Given the description of an element on the screen output the (x, y) to click on. 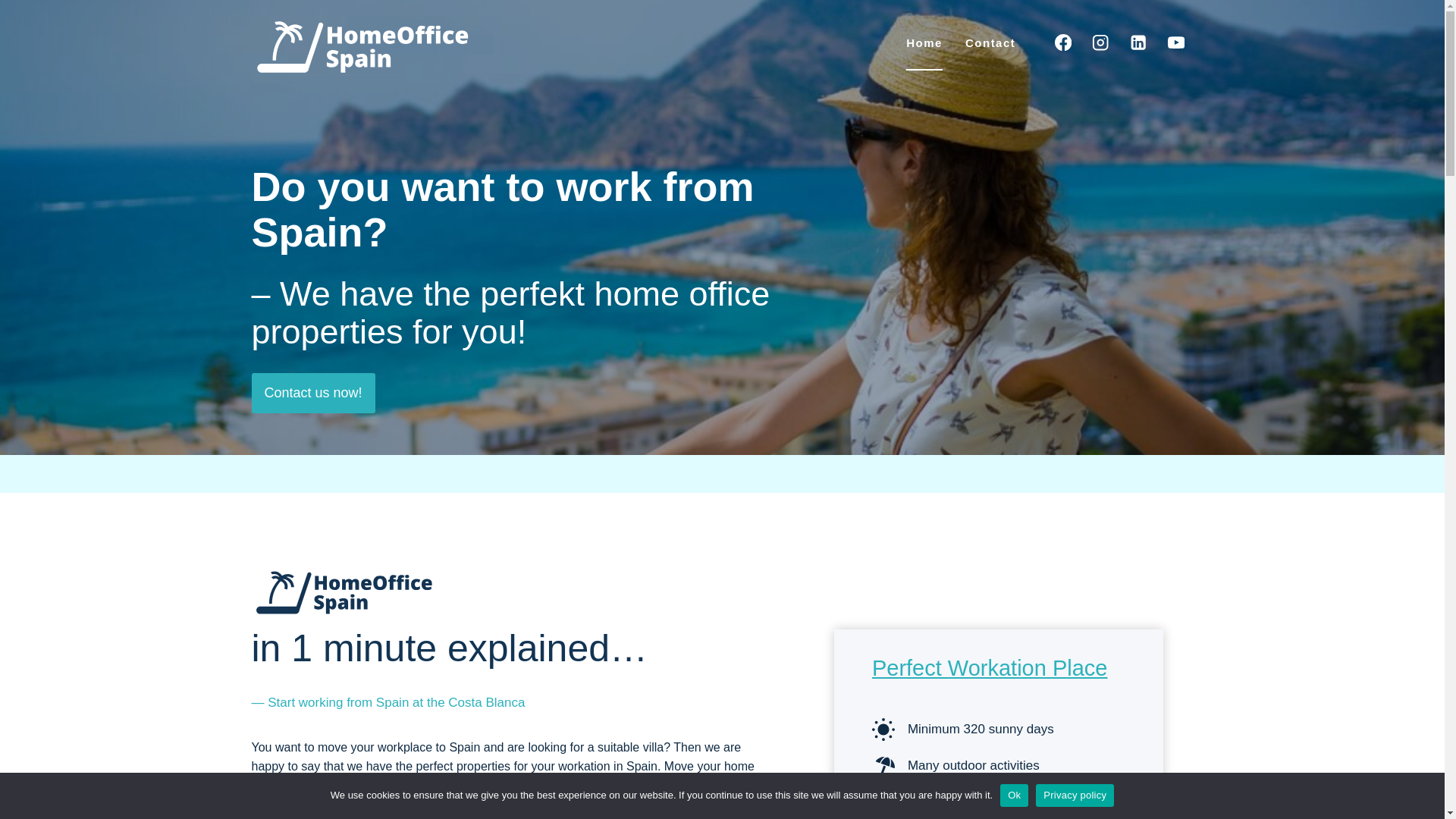
Home (924, 42)
Ok (1013, 794)
Contact (989, 42)
Privacy policy (1074, 794)
Contact us now! (313, 393)
